Given the description of an element on the screen output the (x, y) to click on. 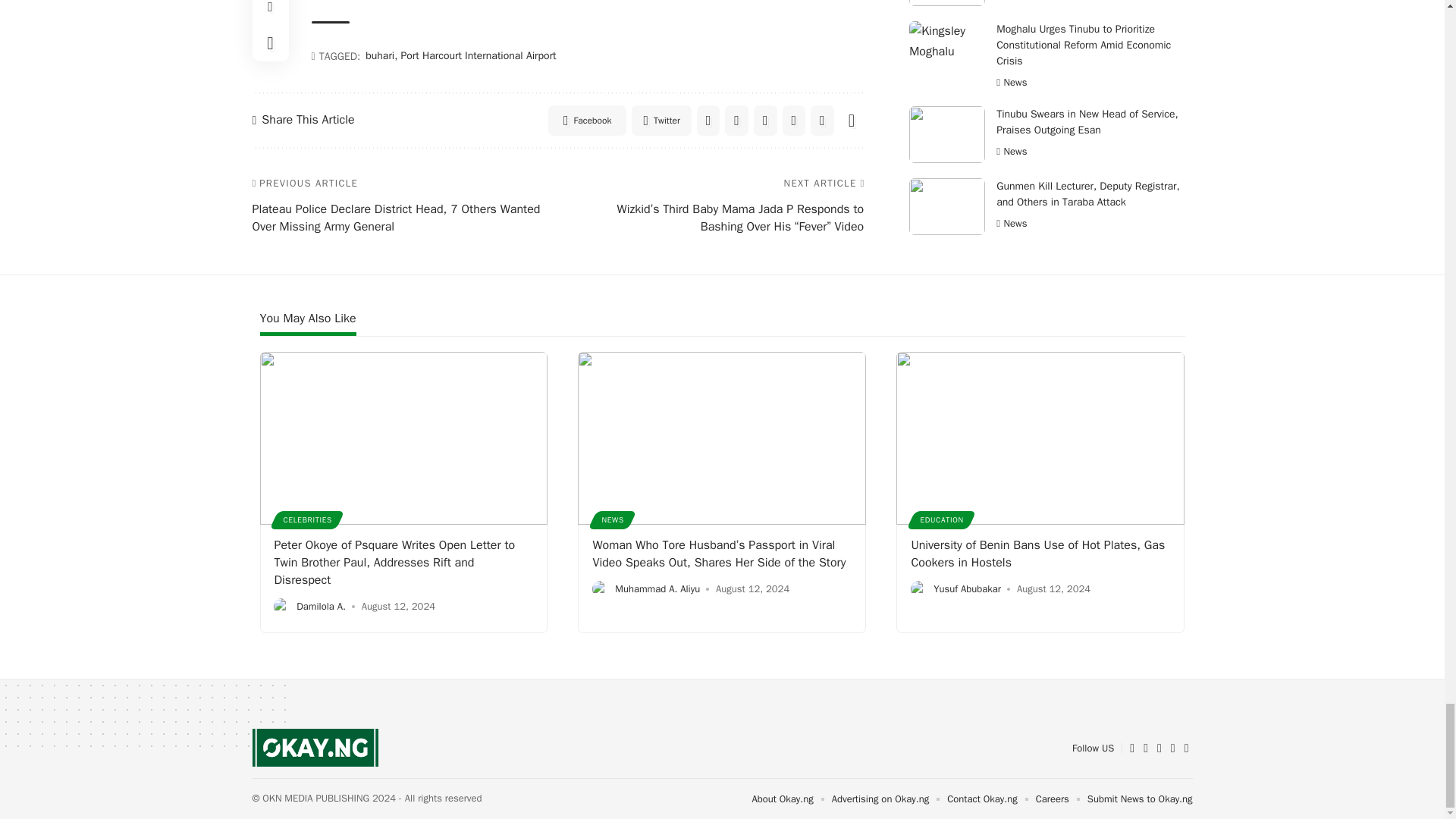
Okay.ng (314, 747)
